Given the description of an element on the screen output the (x, y) to click on. 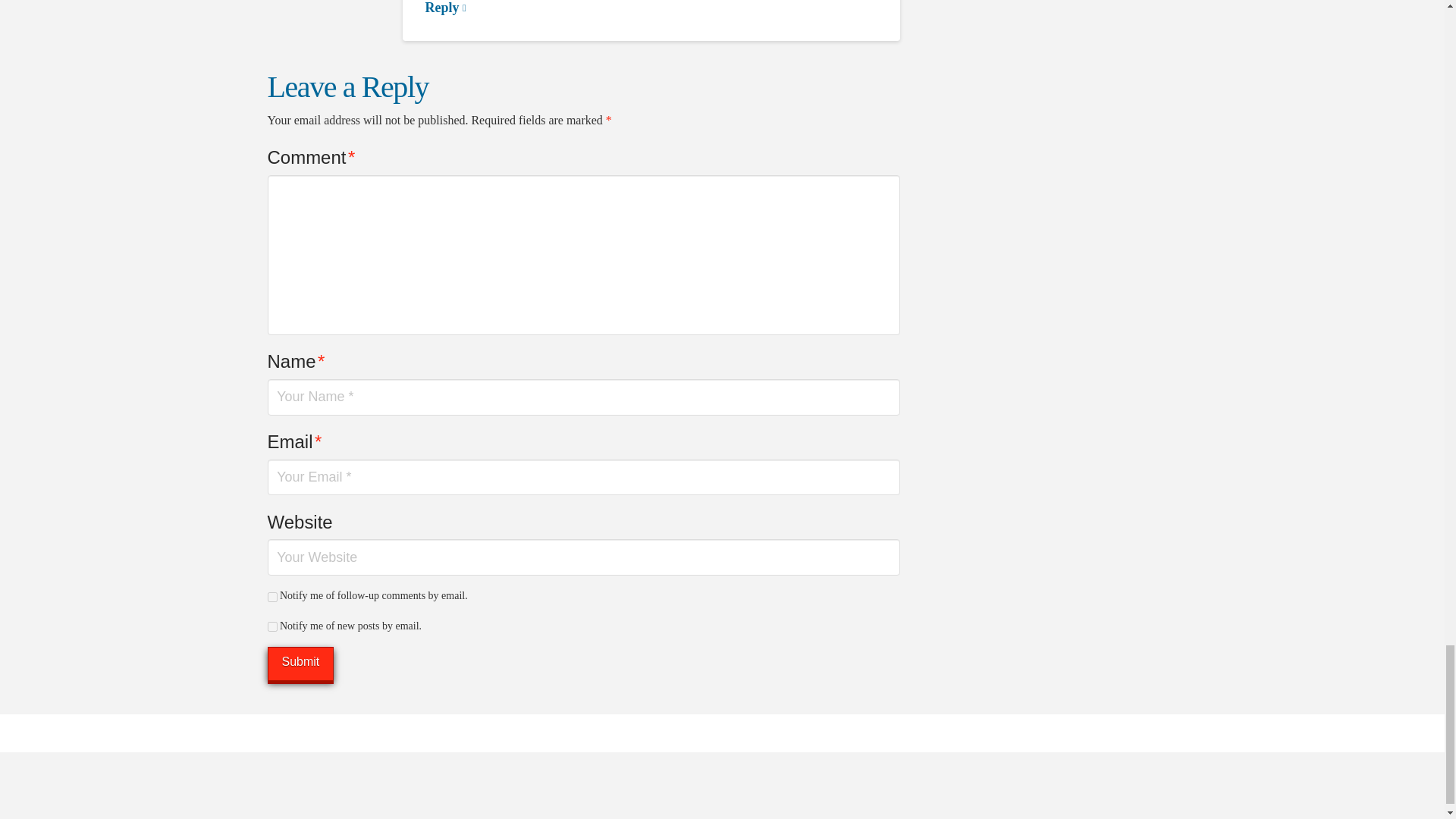
Submit (299, 663)
subscribe (271, 626)
subscribe (271, 596)
